Given the description of an element on the screen output the (x, y) to click on. 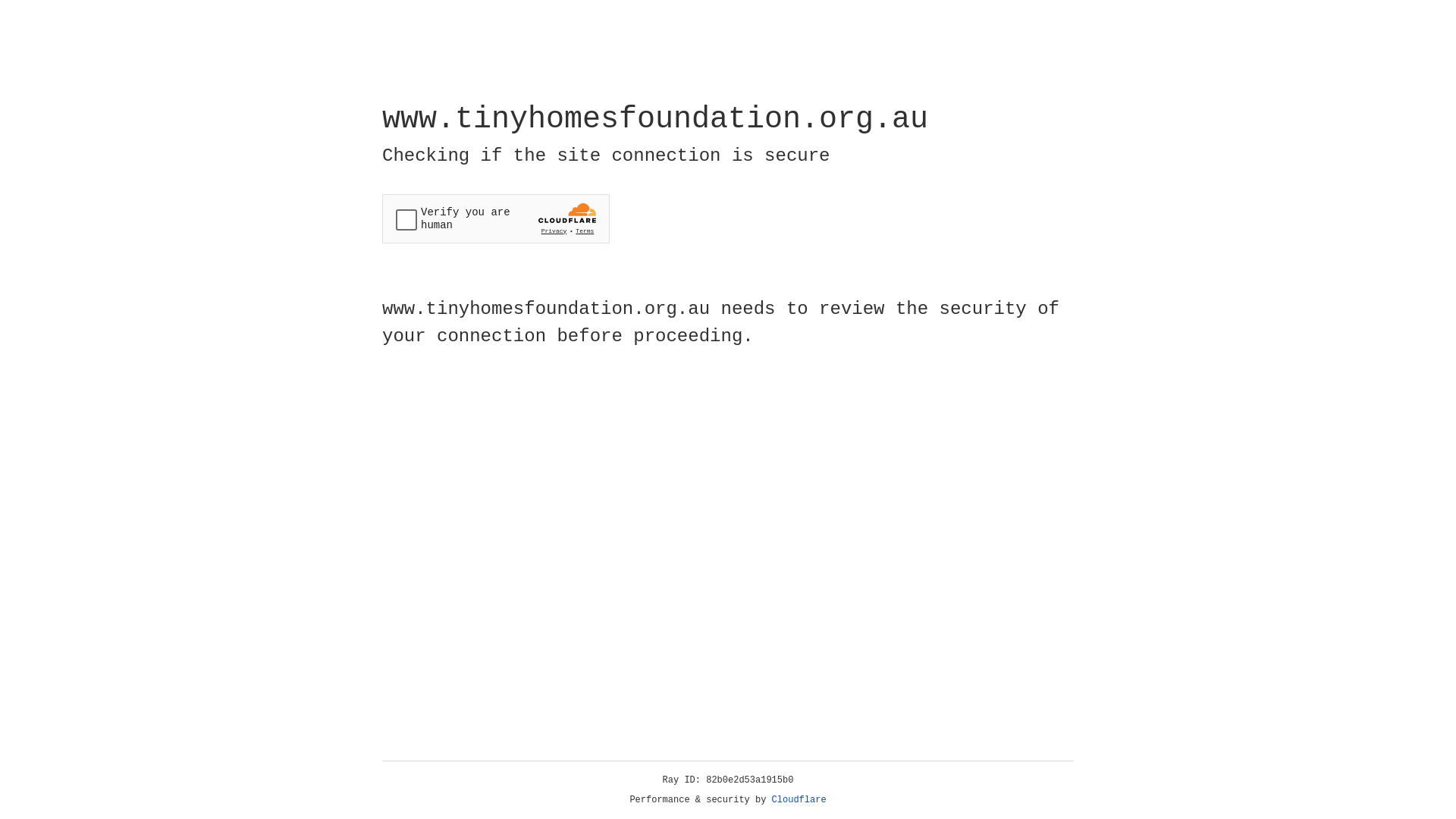
Cloudflare Element type: text (798, 799)
Widget containing a Cloudflare security challenge Element type: hover (495, 218)
